Given the description of an element on the screen output the (x, y) to click on. 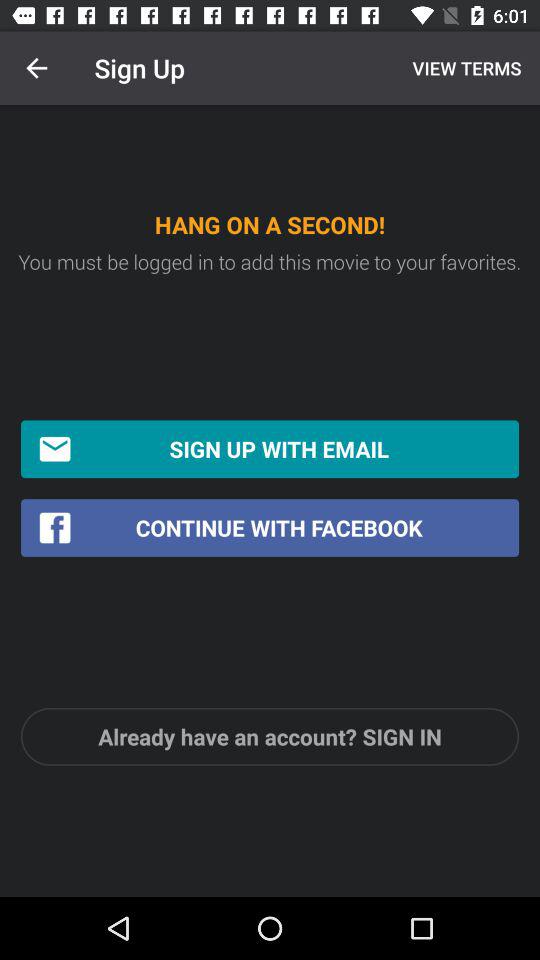
turn off the icon at the top right corner (464, 67)
